Given the description of an element on the screen output the (x, y) to click on. 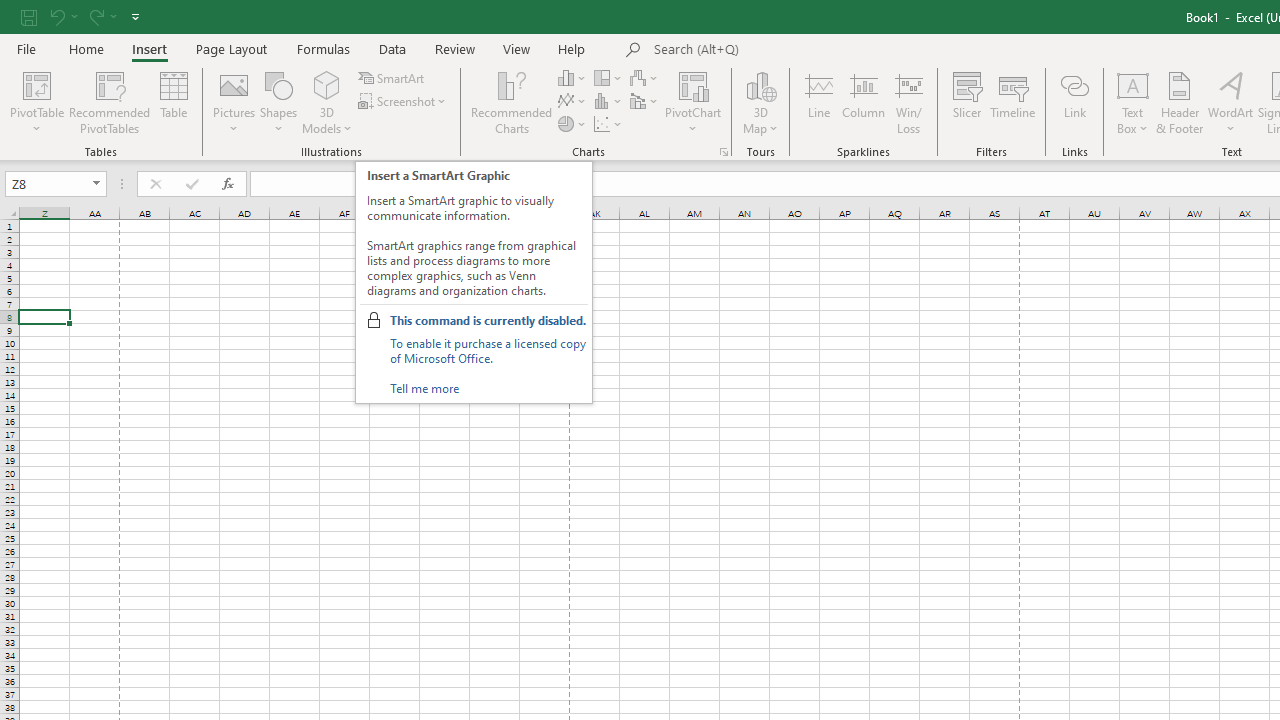
Quick Access Toolbar (82, 16)
